Given the description of an element on the screen output the (x, y) to click on. 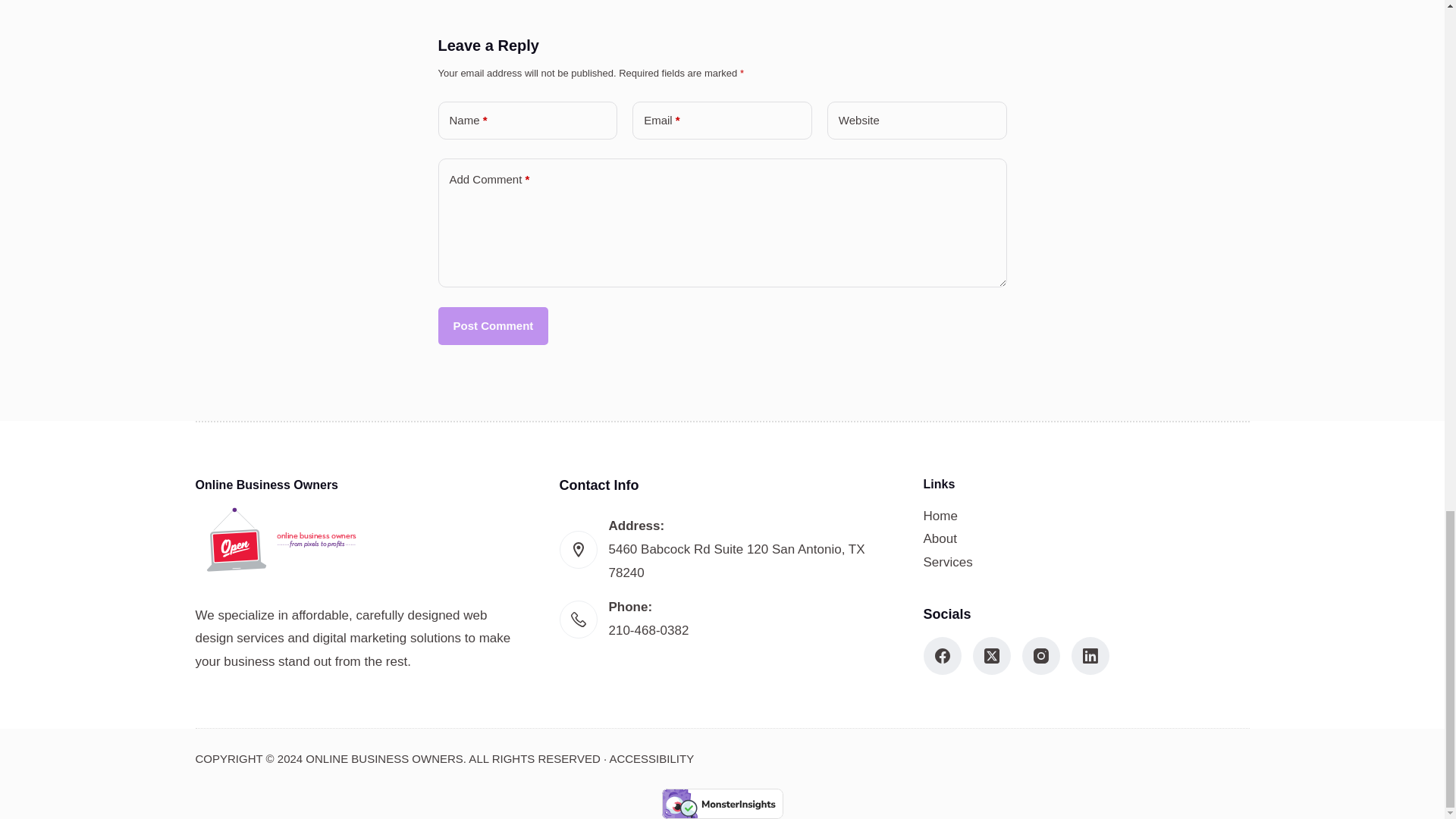
Online Business Owners (282, 540)
